Given the description of an element on the screen output the (x, y) to click on. 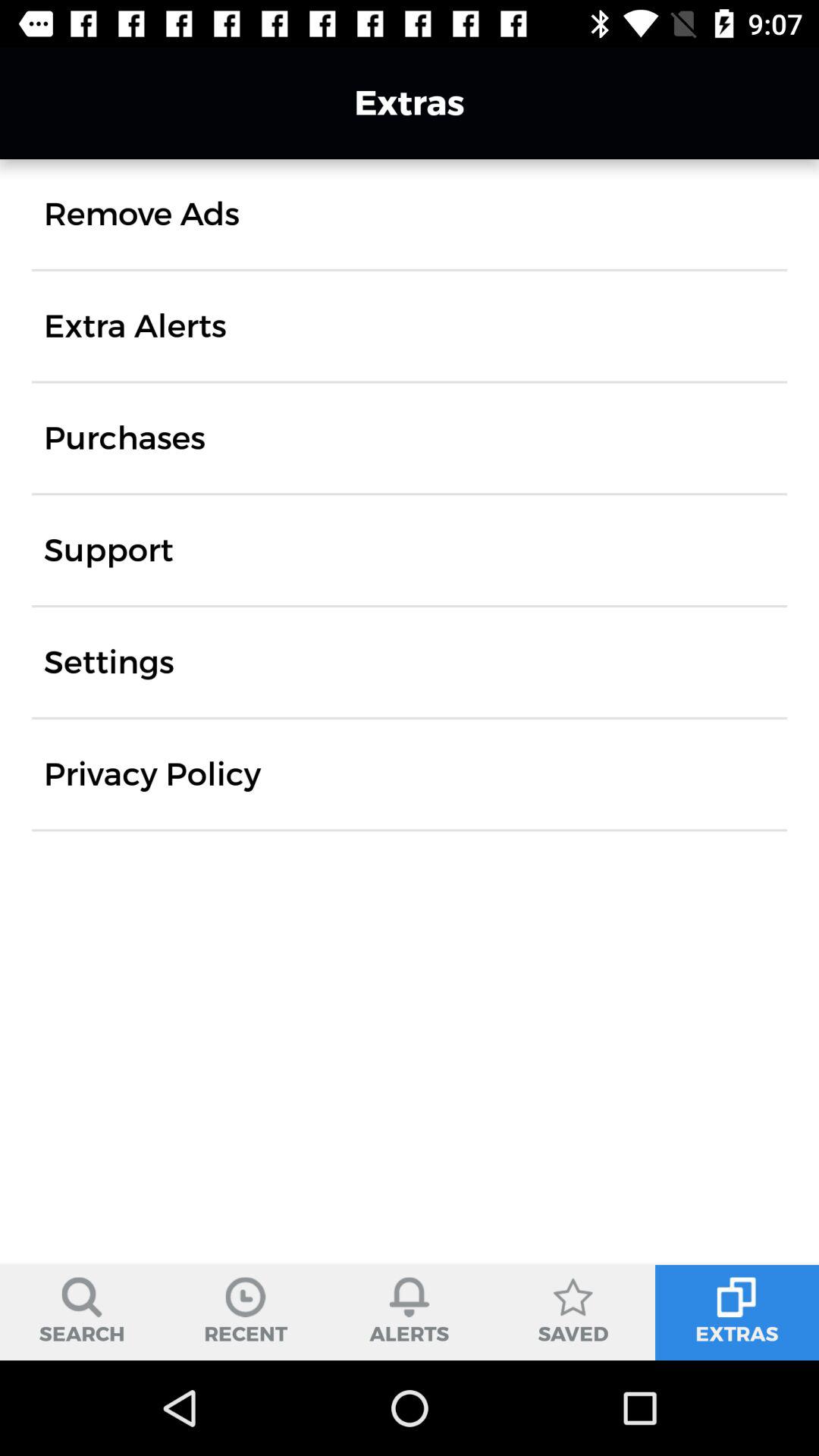
select the icon above support icon (124, 438)
